Given the description of an element on the screen output the (x, y) to click on. 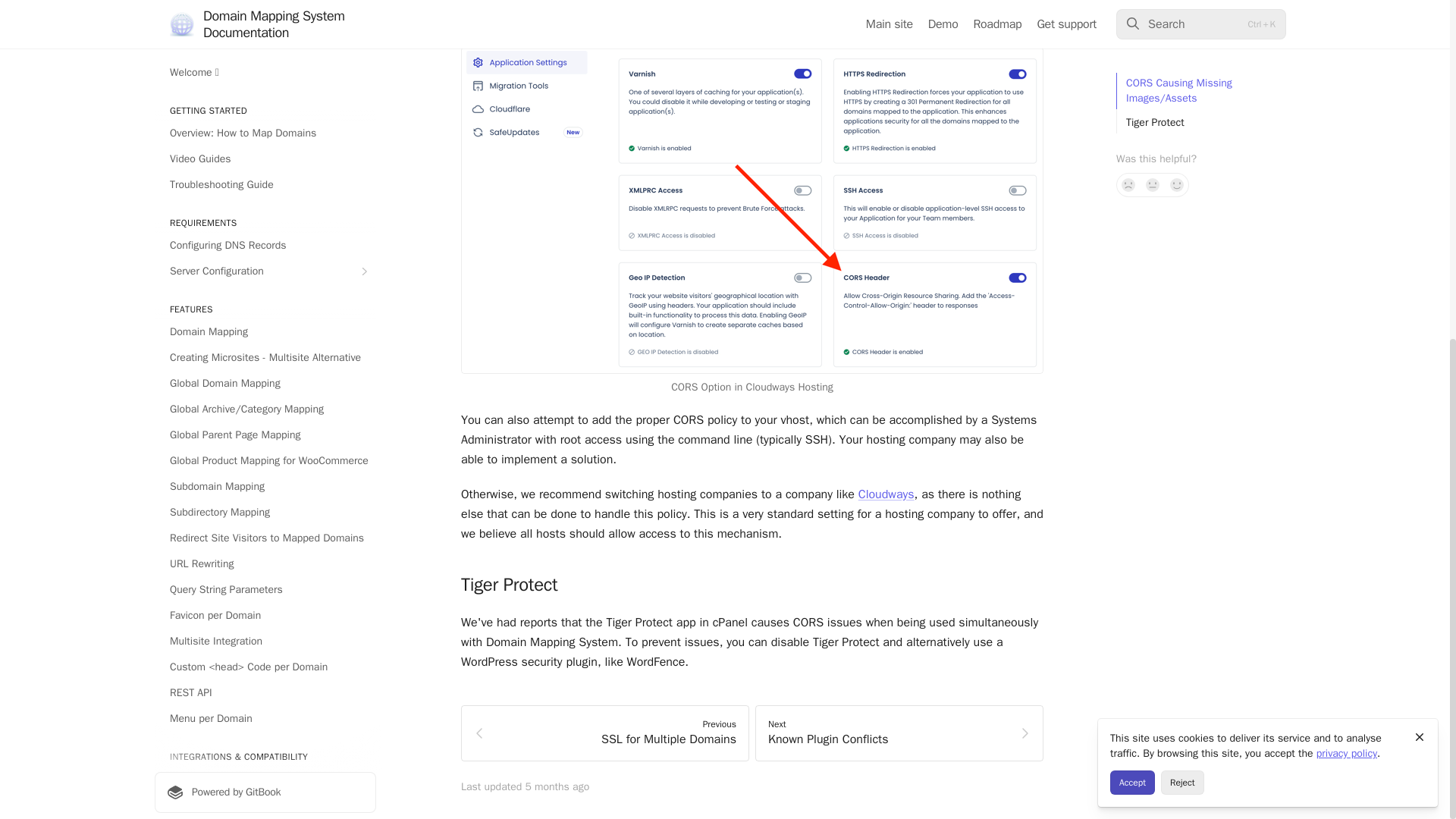
Favicon per Domain (264, 37)
REST API (264, 114)
Menu per Domain (264, 139)
Close (1419, 158)
Supported Hosting Platforms (264, 226)
Multisite Integration (264, 62)
Query String Parameters (264, 11)
WordPress Plugins (264, 200)
